Given the description of an element on the screen output the (x, y) to click on. 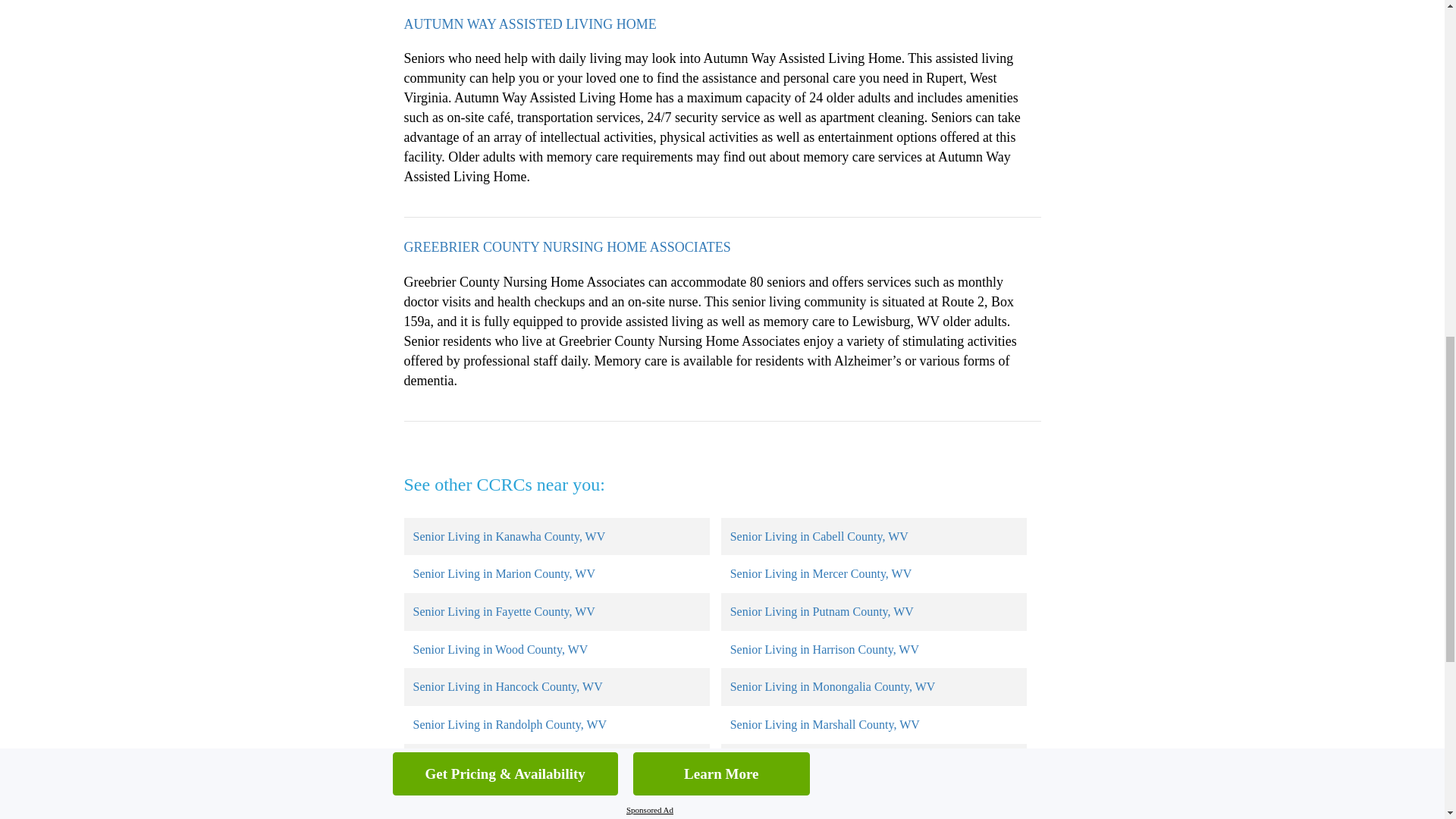
Senior Living in Harrison County, WV (824, 649)
Senior Living in Cabell County, WV (819, 535)
Senior Living in Wood County, WV (500, 649)
Senior Living in Mercer County, WV (821, 573)
Senior Living in Hancock County, WV (507, 686)
Senior Living in Marion County, WV (503, 573)
Senior Living in Raleigh County, WV (504, 762)
Senior Living in Randolph County, WV (509, 724)
Senior Living in Putnam County, WV (822, 611)
Senior Living in Fayette County, WV (503, 611)
